Given the description of an element on the screen output the (x, y) to click on. 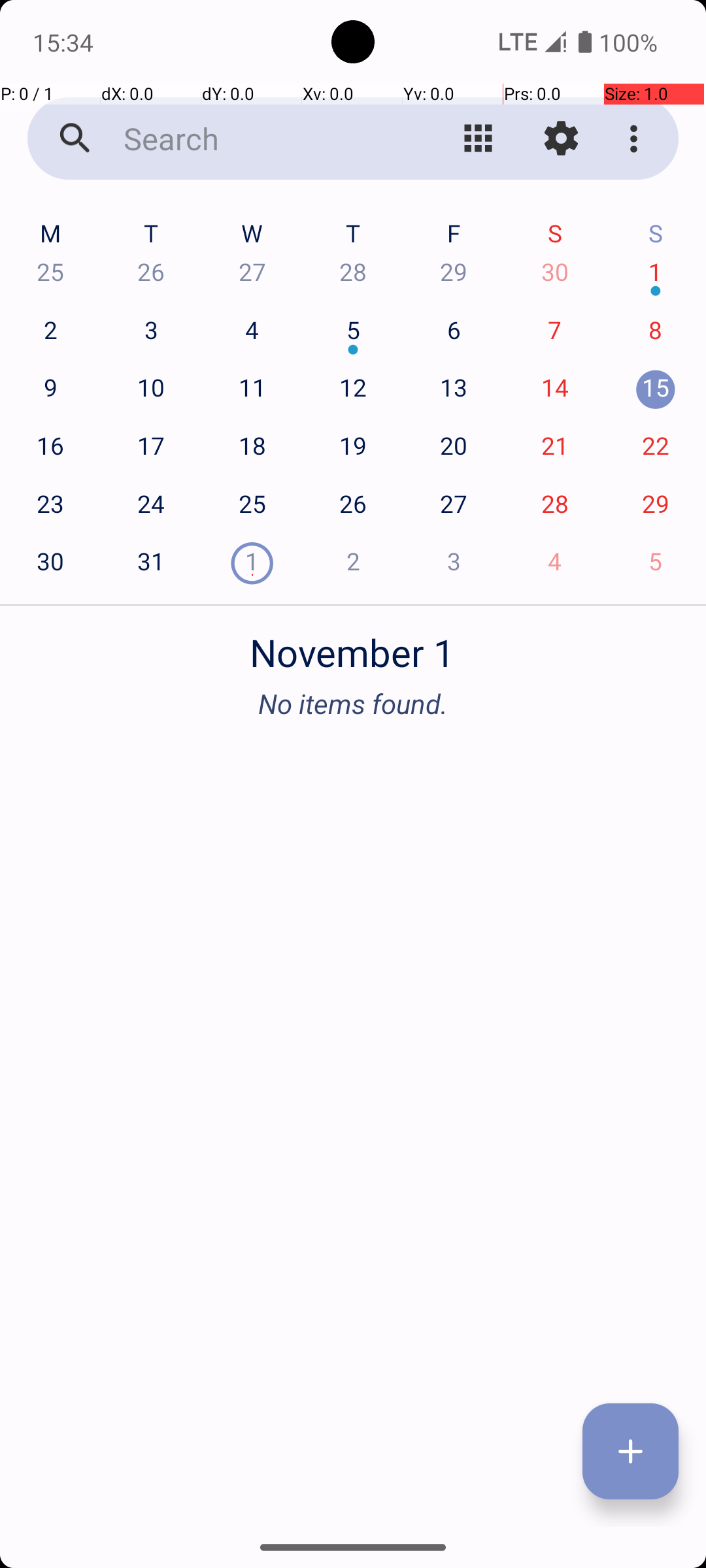
November 1 Element type: android.widget.TextView (352, 644)
